Given the description of an element on the screen output the (x, y) to click on. 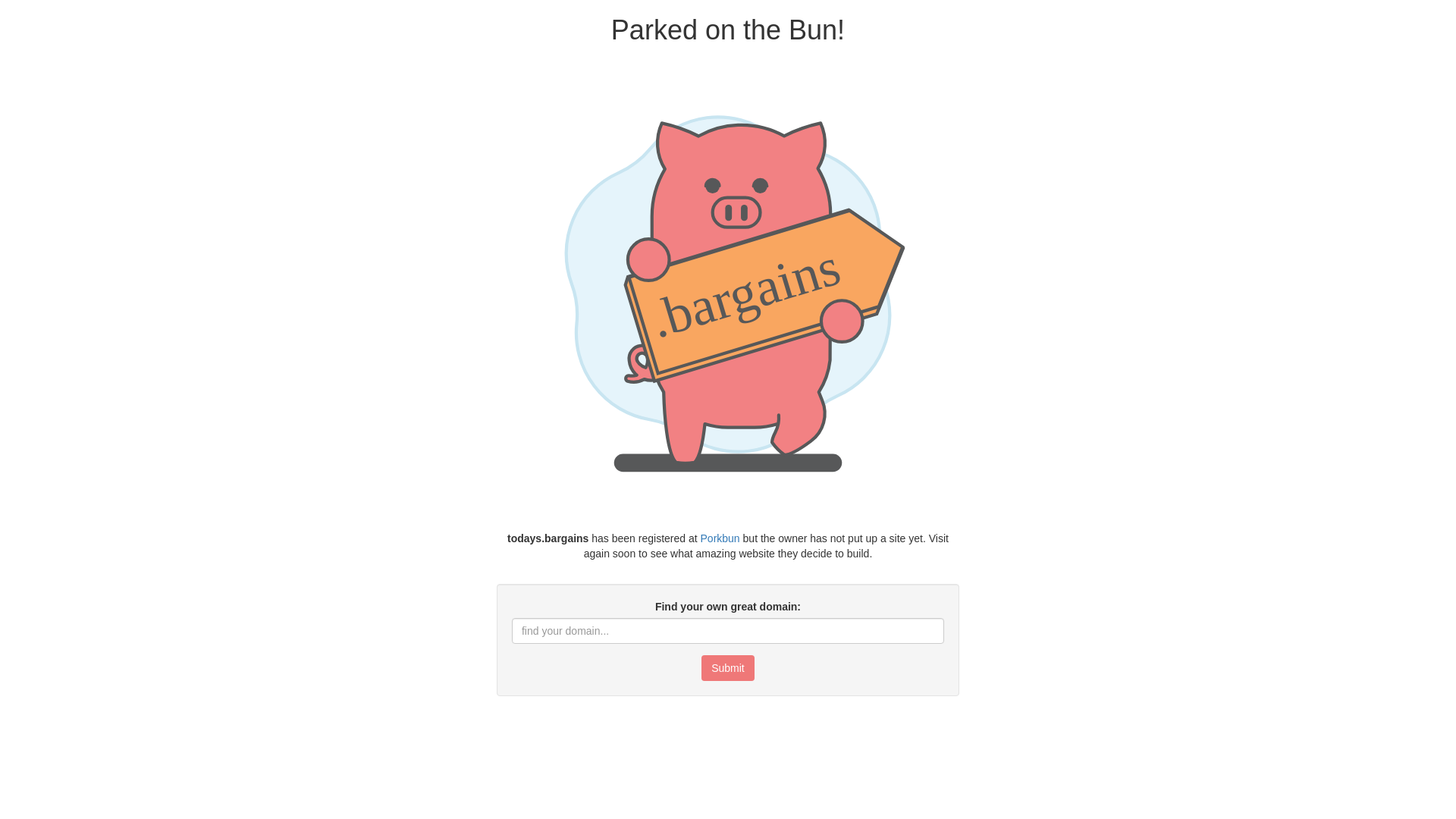
Submit Element type: text (727, 667)
Porkbun Element type: text (720, 538)
